Given the description of an element on the screen output the (x, y) to click on. 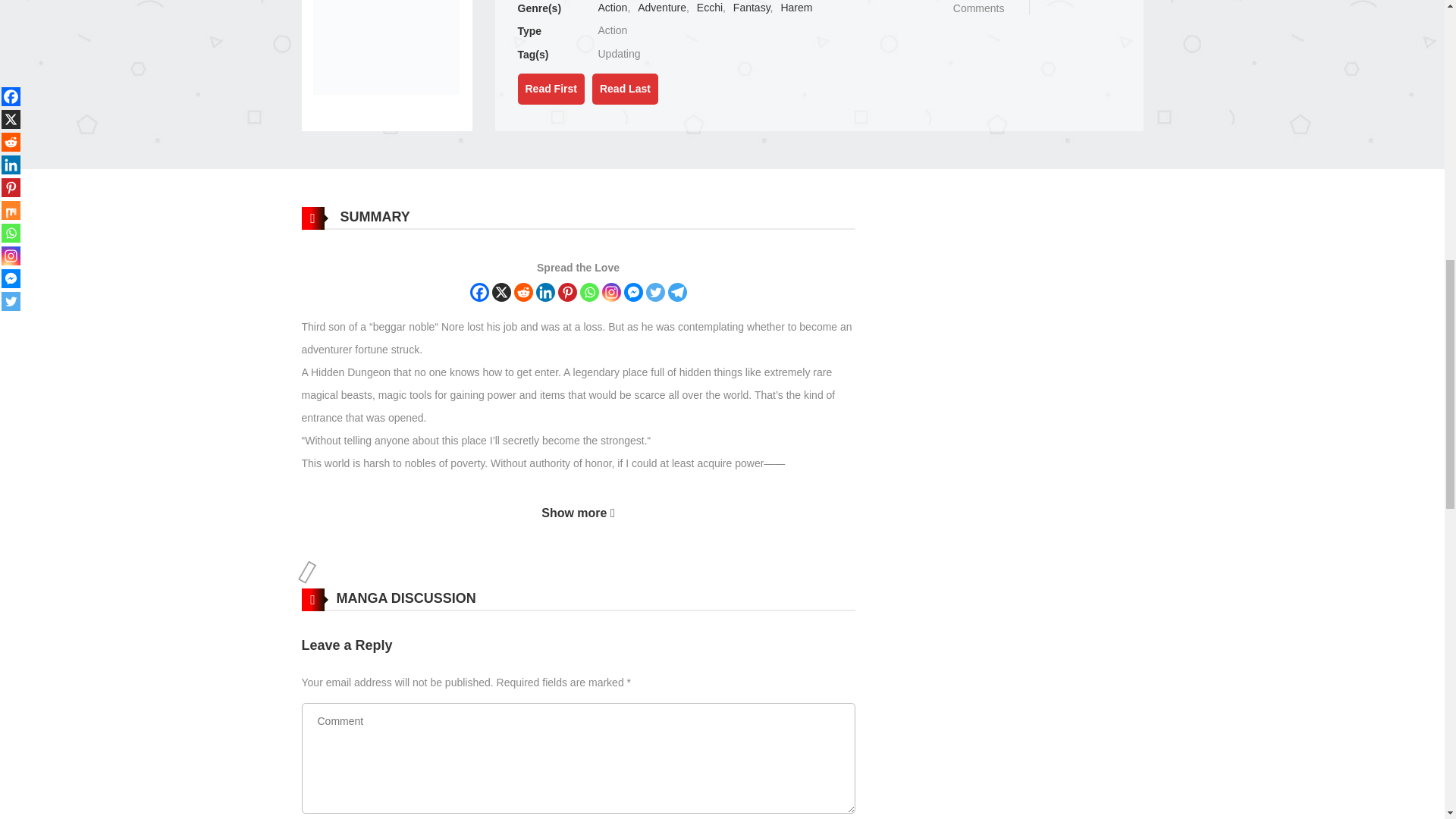
Adventure (661, 7)
Telegram (675, 292)
Fantasy (751, 7)
Ecchi (709, 7)
Whatsapp (588, 292)
Twitter (655, 292)
Linkedin (544, 292)
Instagram (611, 292)
Action (611, 7)
X (501, 292)
